Given the description of an element on the screen output the (x, y) to click on. 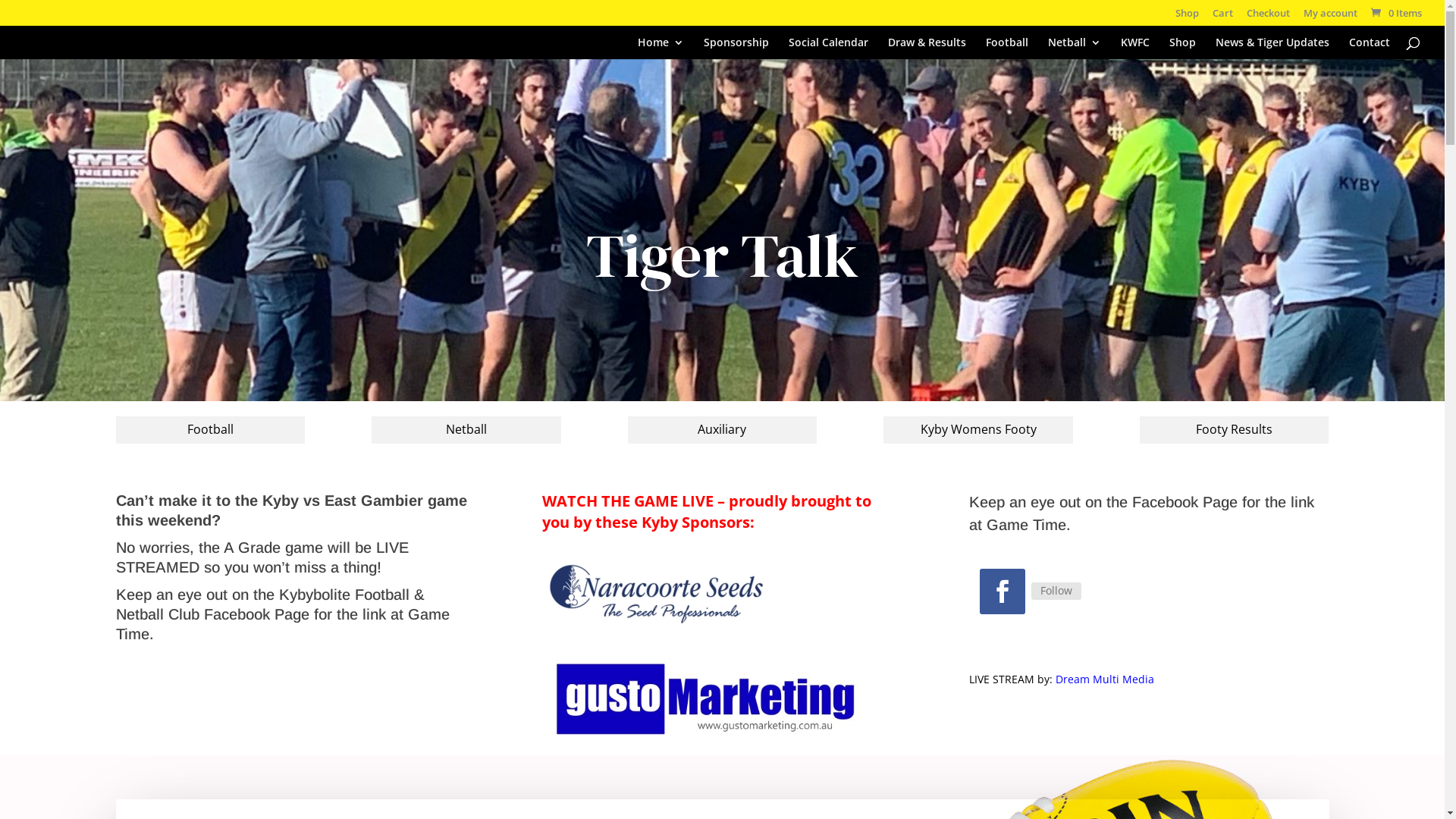
Dream Multi Media Element type: text (1104, 678)
0 Items Element type: text (1394, 12)
Football Element type: text (1006, 47)
Netball Element type: text (1074, 47)
Home Element type: text (660, 47)
Sponsorship Element type: text (735, 47)
Football Element type: text (209, 430)
Shop Element type: text (1186, 16)
Netball Element type: text (466, 430)
Auxiliary Element type: text (722, 430)
Cart Element type: text (1222, 16)
Kyby Womens Footy Element type: text (978, 430)
Contact Element type: text (1369, 47)
KWFC Element type: text (1134, 47)
Gusto-Marketing-LOGO-1 (3) Element type: hover (704, 699)
Social Calendar Element type: text (828, 47)
Checkout Element type: text (1267, 16)
My account Element type: text (1330, 16)
Shop Element type: text (1182, 47)
Follow Element type: text (1056, 590)
Footy Results Element type: text (1234, 430)
Draw & Results Element type: text (927, 47)
News & Tiger Updates Element type: text (1272, 47)
Naracoorte Seeds Element type: hover (655, 592)
Follow on Facebook Element type: hover (1002, 591)
